Given the description of an element on the screen output the (x, y) to click on. 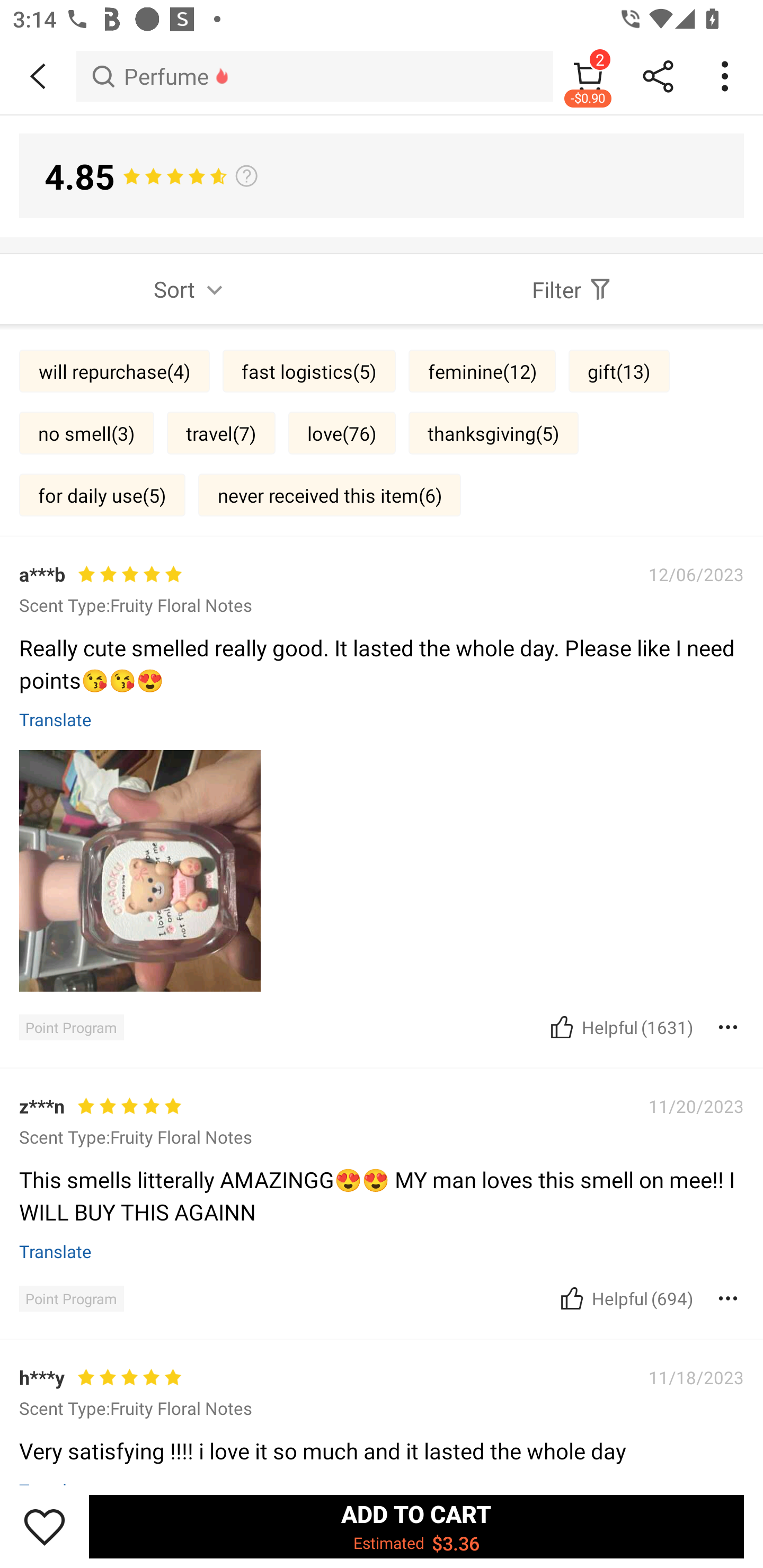
BACK (38, 75)
2 -$0.90 (588, 75)
Perfume (314, 75)
Sort (190, 289)
Filter (572, 289)
will repurchase(4) (114, 370)
fast logistics(5) (308, 370)
feminine(12) (481, 370)
gift(13) (618, 370)
no smell(3) (86, 432)
travel(7) (221, 432)
love(76) (341, 432)
thanksgiving(5) (493, 432)
for daily use(5) (102, 494)
never received this item(6) (329, 494)
Translate (55, 718)
Cancel Helpful Was this article helpful? (1631) (619, 1026)
Point Program (71, 1027)
Qty: 1 (381, 1125)
Translate (55, 1251)
Cancel Helpful Was this article helpful? (694) (624, 1298)
Point Program (71, 1297)
ADD TO CART Estimated   $3.36 (416, 1526)
Save (44, 1526)
